Given the description of an element on the screen output the (x, y) to click on. 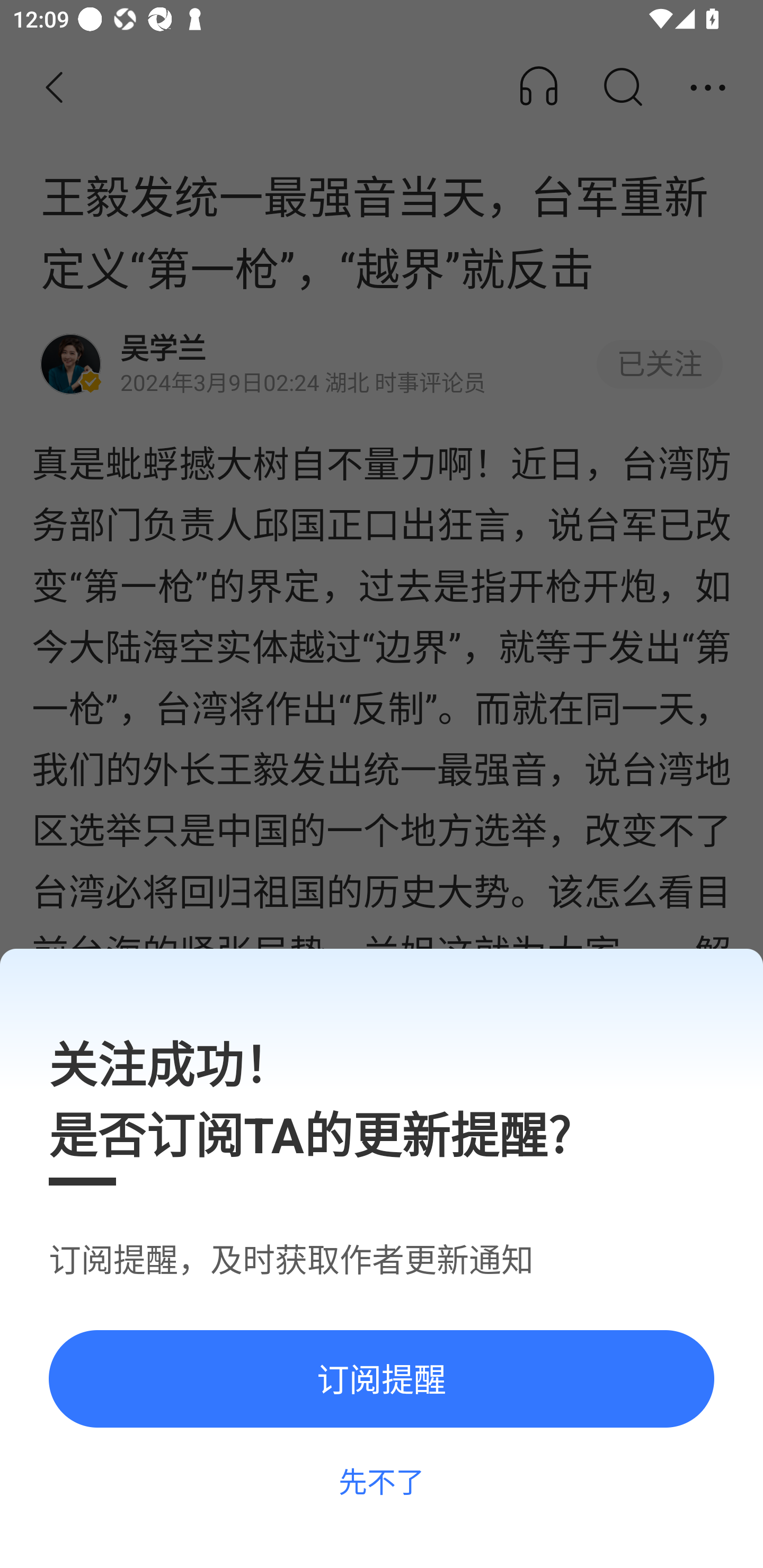
订阅提醒 (381, 1377)
先不了 (381, 1480)
